Given the description of an element on the screen output the (x, y) to click on. 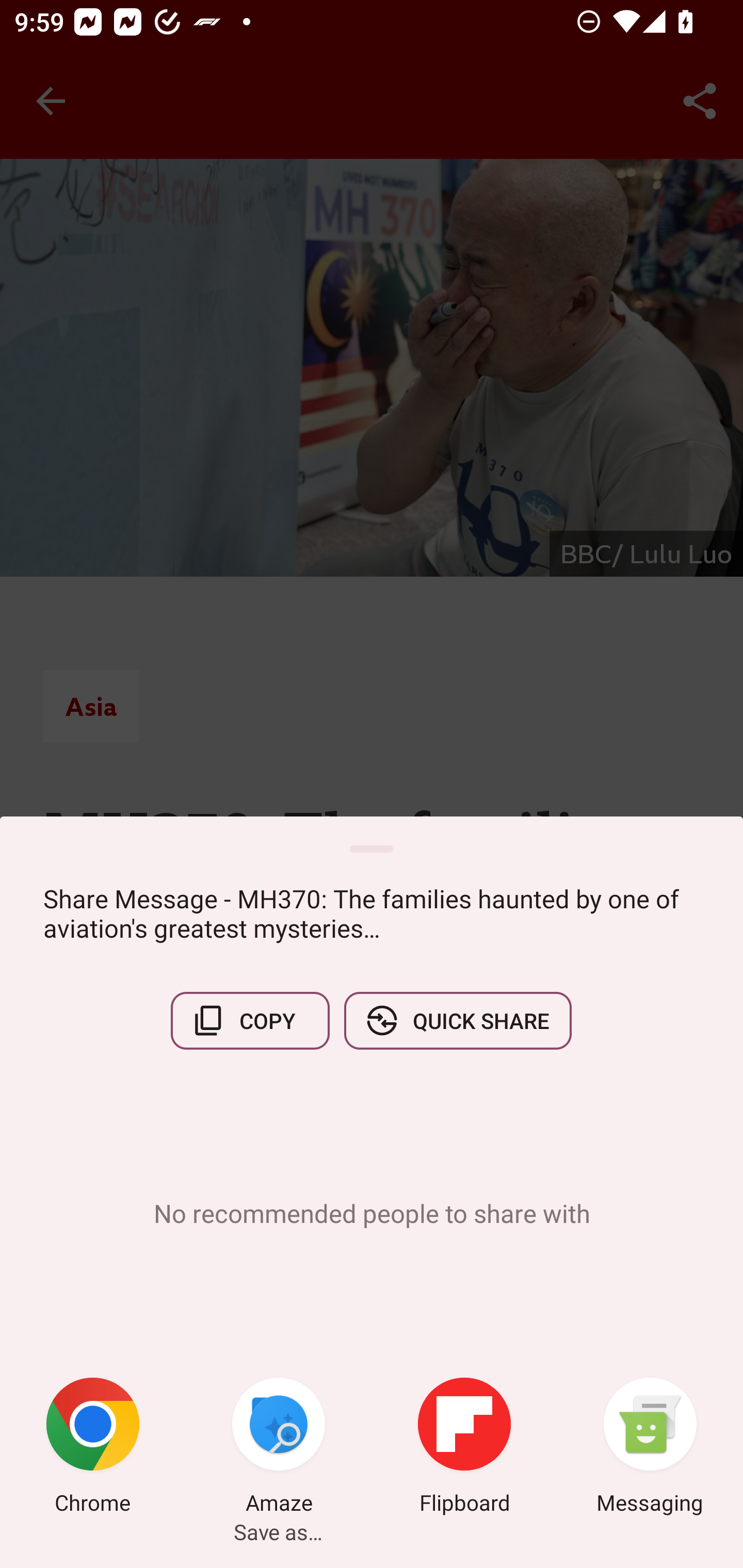
COPY (249, 1020)
QUICK SHARE (457, 1020)
Chrome (92, 1448)
Amaze Save as… (278, 1448)
Flipboard (464, 1448)
Messaging (650, 1448)
